Given the description of an element on the screen output the (x, y) to click on. 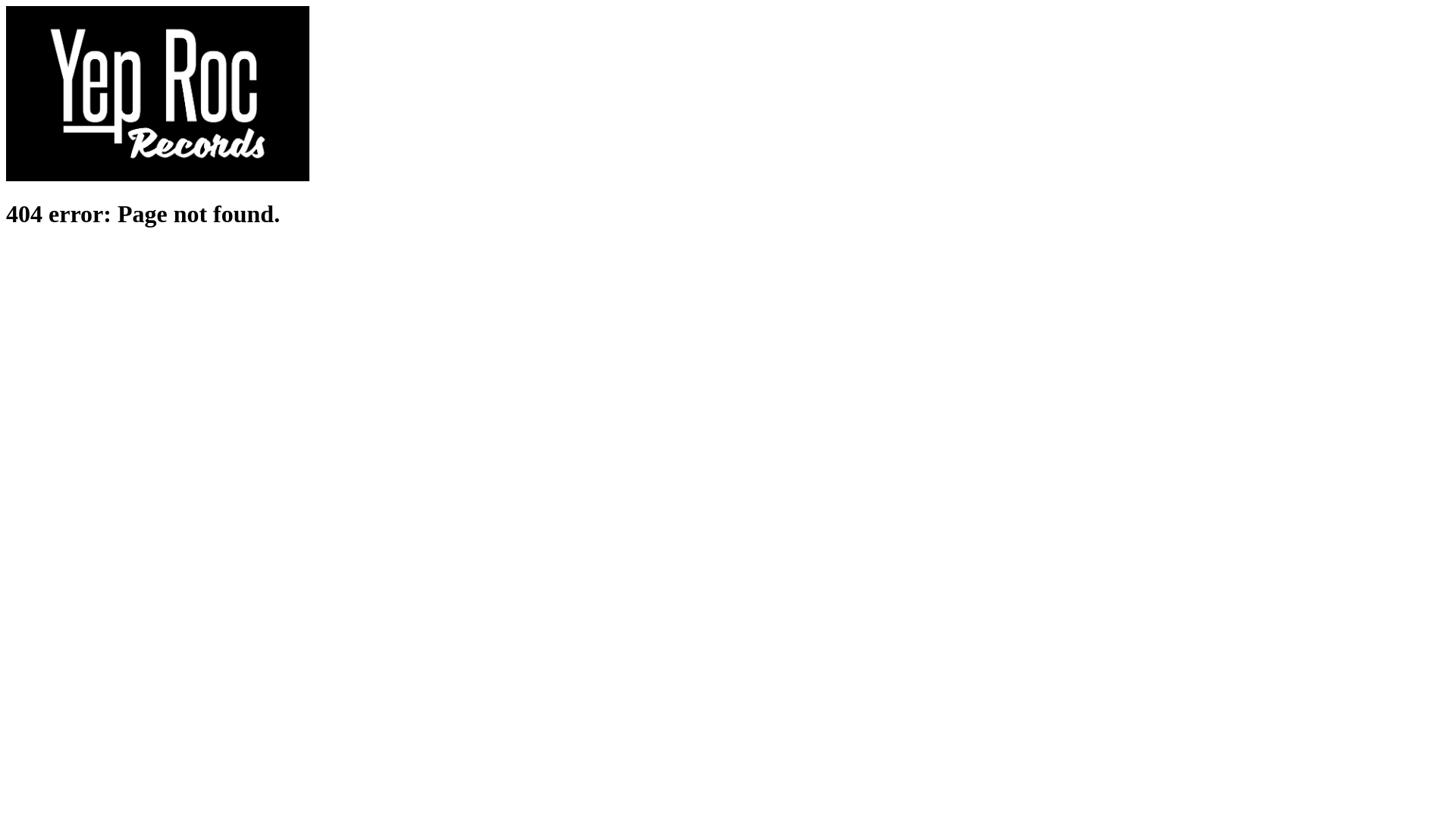
Yep Roc Records Element type: hover (157, 176)
